Given the description of an element on the screen output the (x, y) to click on. 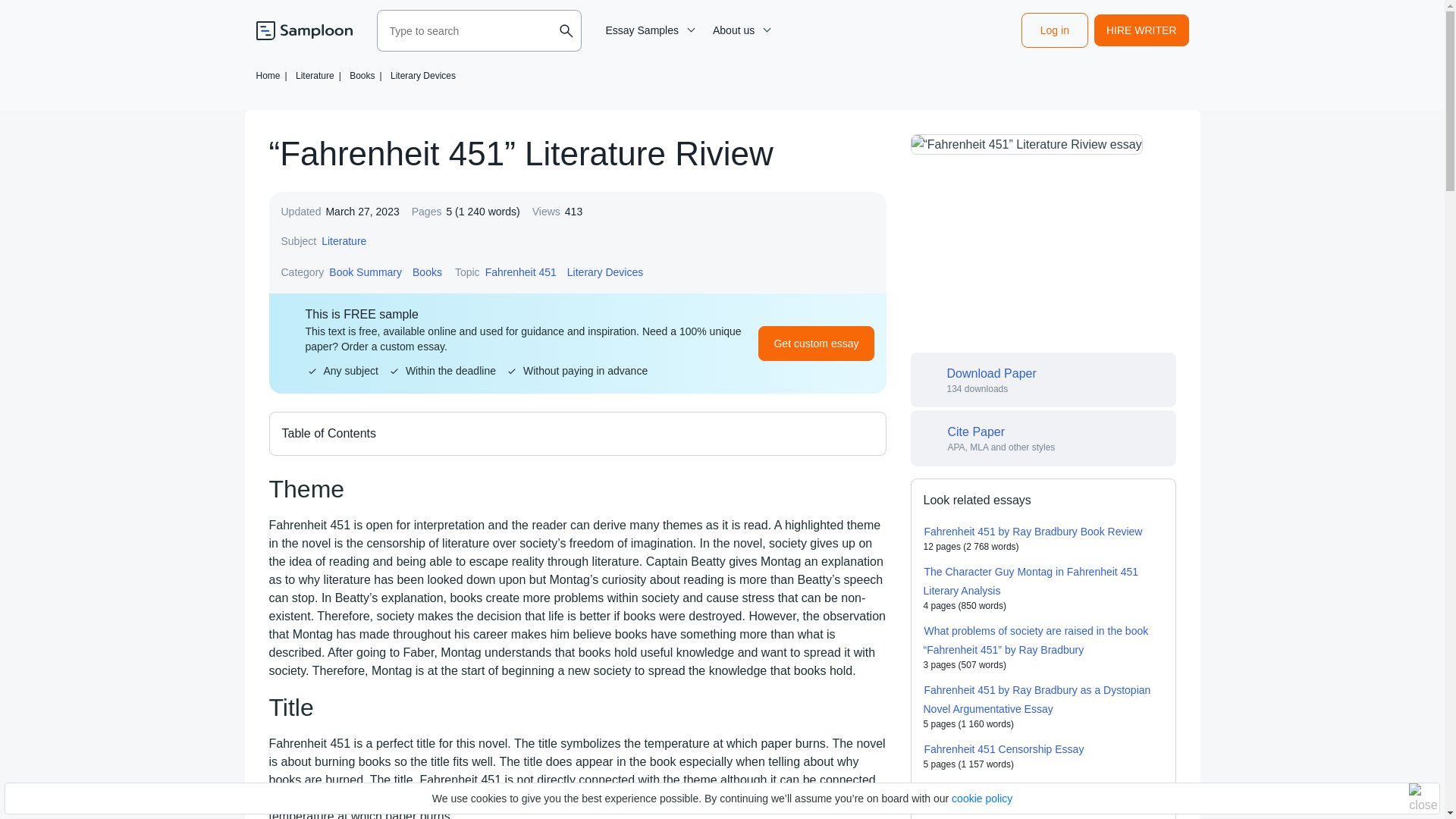
Literary Devices (422, 75)
Books (427, 272)
Fahrenheit 451 (520, 272)
Literary Devices (604, 272)
Literature (343, 241)
Book Summary (366, 272)
About us (739, 30)
Essay Samples (647, 30)
